Given the description of an element on the screen output the (x, y) to click on. 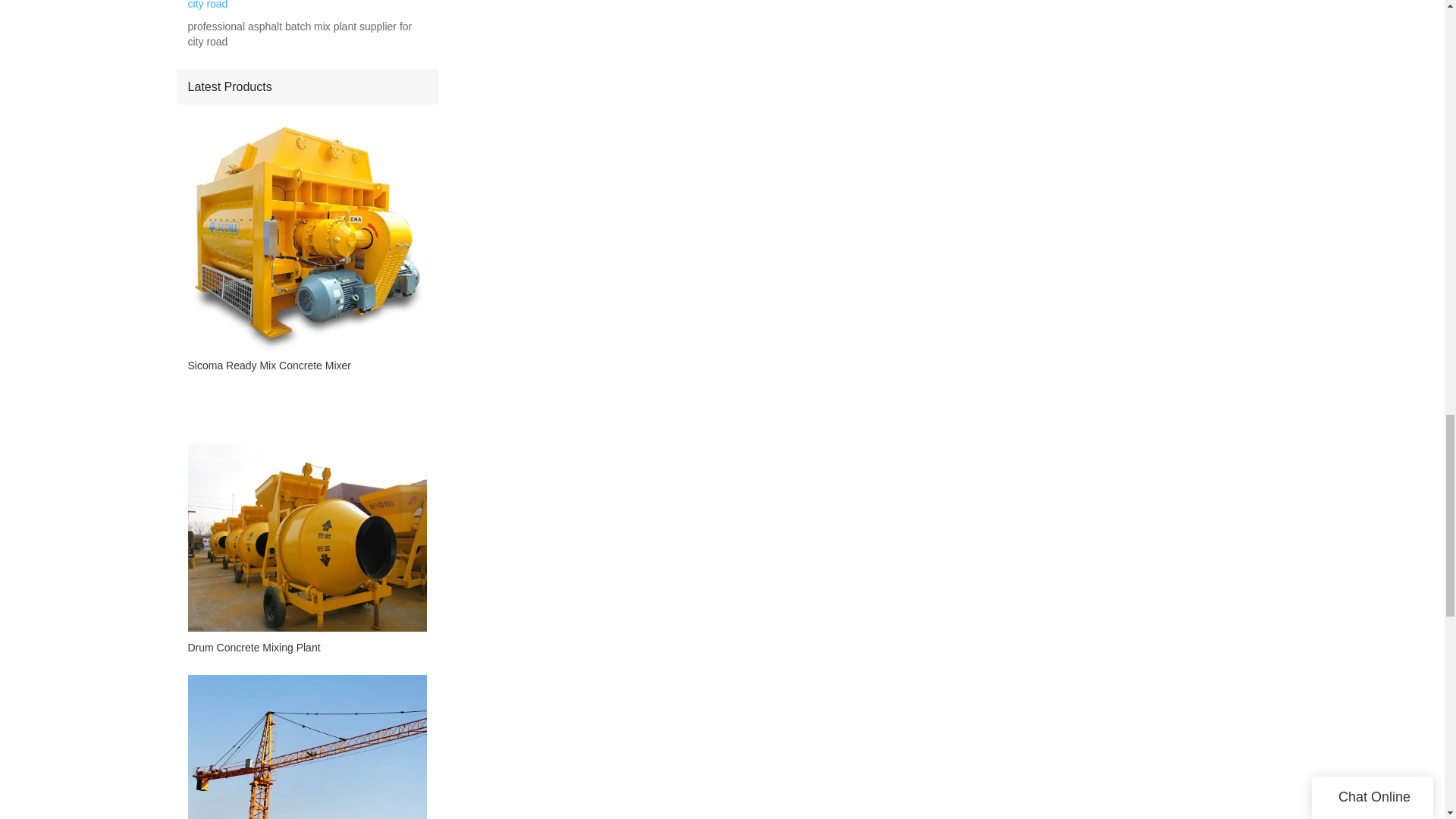
professional asphalt batch mix plant supplier for city road (306, 34)
Sicoma Ready Mix Concrete Mixer (306, 365)
Drum Concrete Mixing Plant (306, 647)
